Given the description of an element on the screen output the (x, y) to click on. 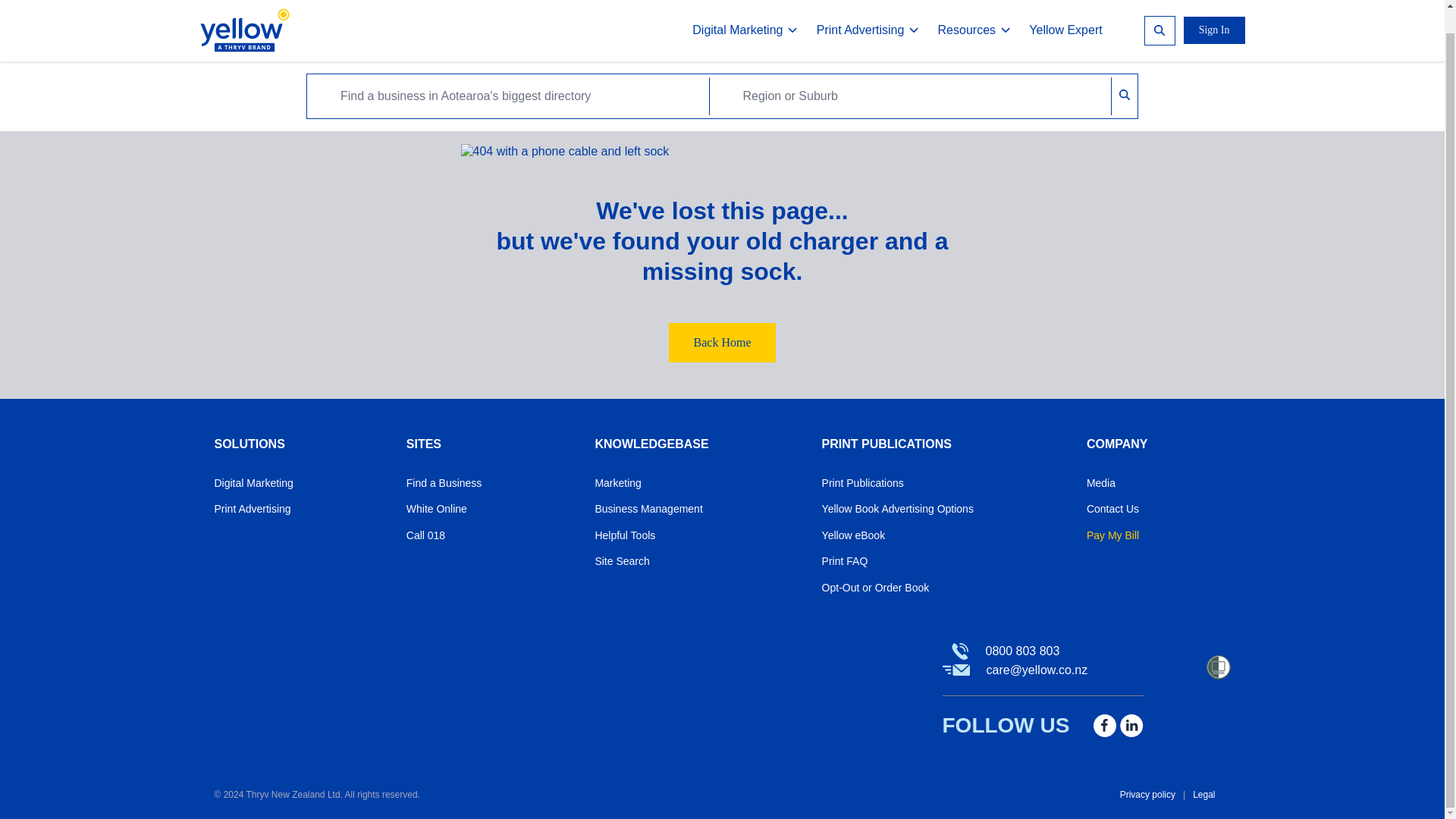
Digital Marketing (744, 6)
Print Advertising (867, 6)
Resources (973, 6)
